Given the description of an element on the screen output the (x, y) to click on. 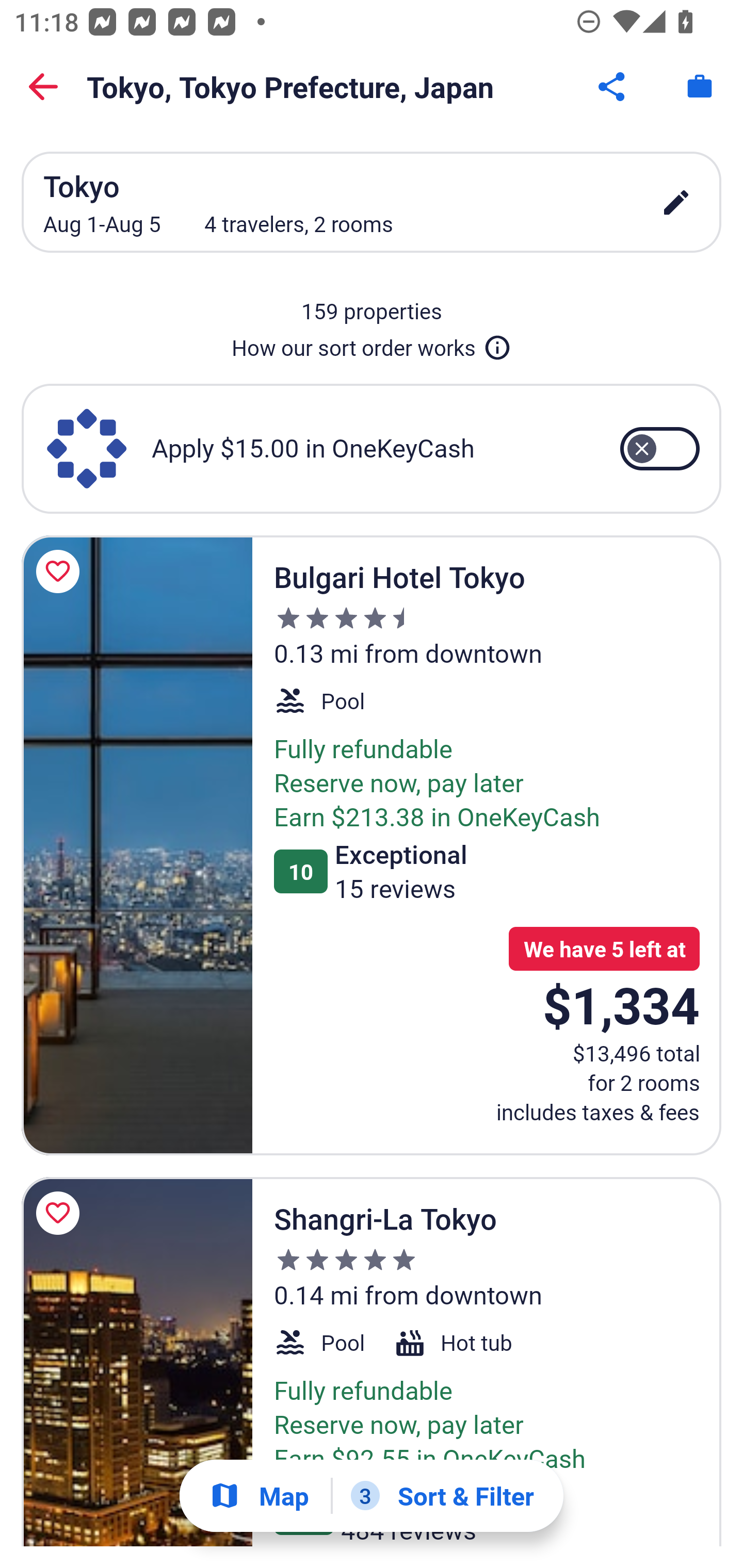
Back (43, 86)
Share Button (612, 86)
Trips. Button (699, 86)
Tokyo Aug 1-Aug 5 4 travelers, 2 rooms edit (371, 202)
How our sort order works (371, 344)
Save Bulgari Hotel Tokyo to a trip (61, 571)
Bulgari Hotel Tokyo (136, 844)
Save Shangri-La Tokyo to a trip (61, 1212)
Shangri-La Tokyo (136, 1361)
3 Sort & Filter 3 Filters applied. Filters Button (442, 1495)
Show map Map Show map Button (258, 1495)
